Given the description of an element on the screen output the (x, y) to click on. 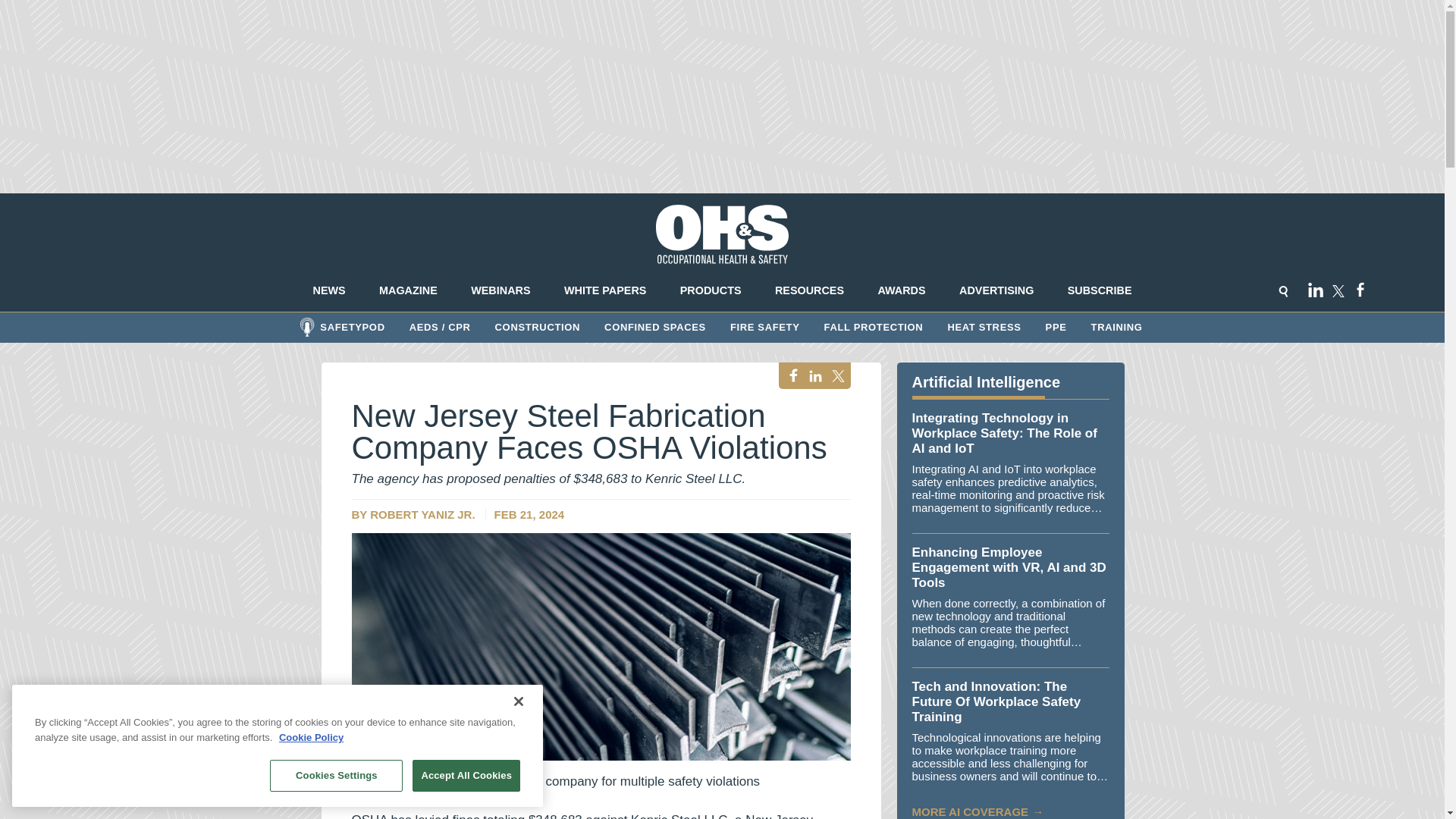
ADVERTISING (996, 290)
WHITE PAPERS (605, 290)
MAGAZINE (408, 290)
NEWS (328, 290)
PRODUCTS (710, 290)
RESOURCES (809, 290)
AWARDS (901, 290)
WEBINARS (500, 290)
